Given the description of an element on the screen output the (x, y) to click on. 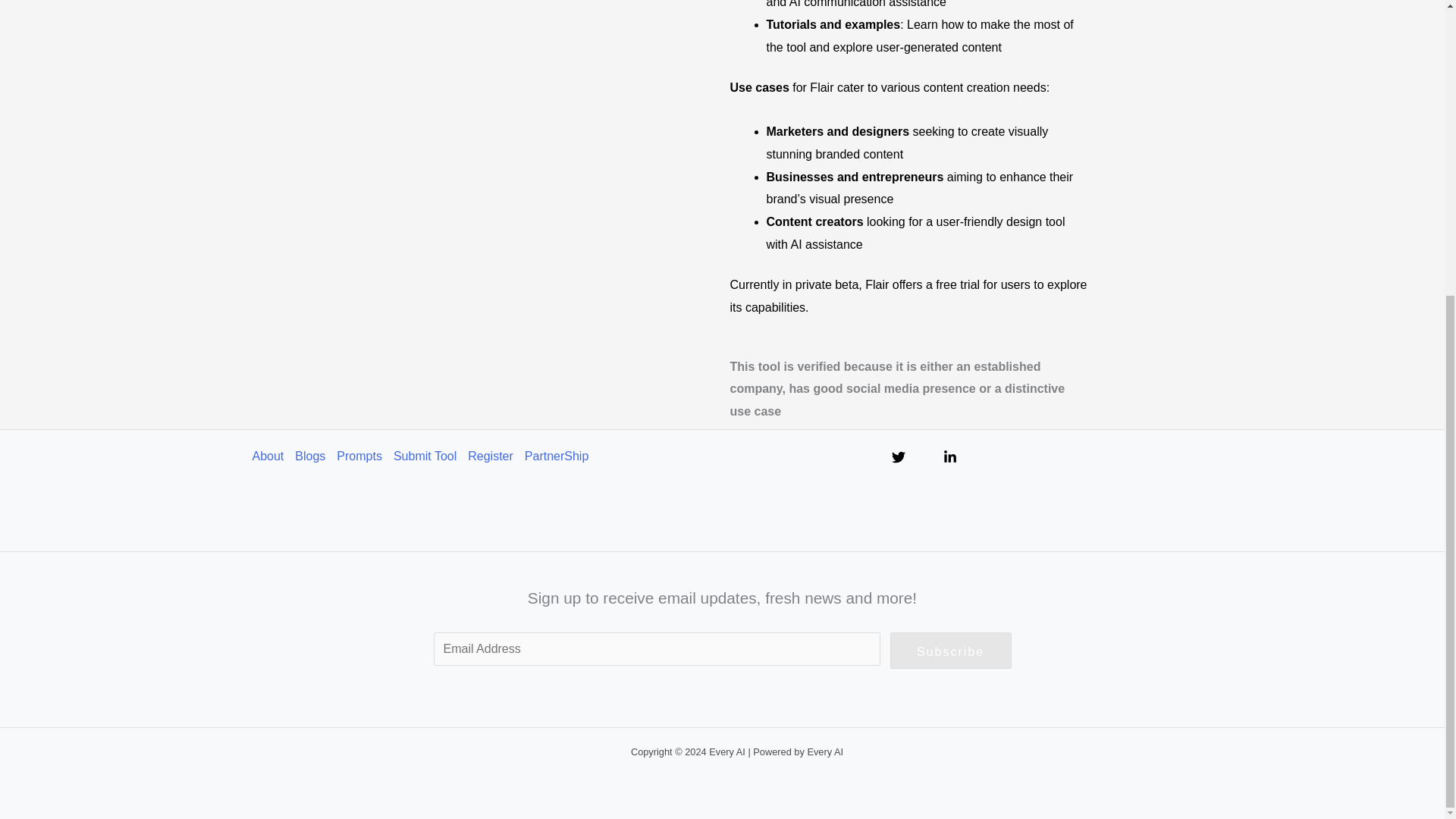
About (273, 456)
Blogs (315, 456)
Submit Tool (430, 456)
Prompts (364, 456)
PartnerShip (561, 456)
Subscribe (950, 650)
Register (495, 456)
